Given the description of an element on the screen output the (x, y) to click on. 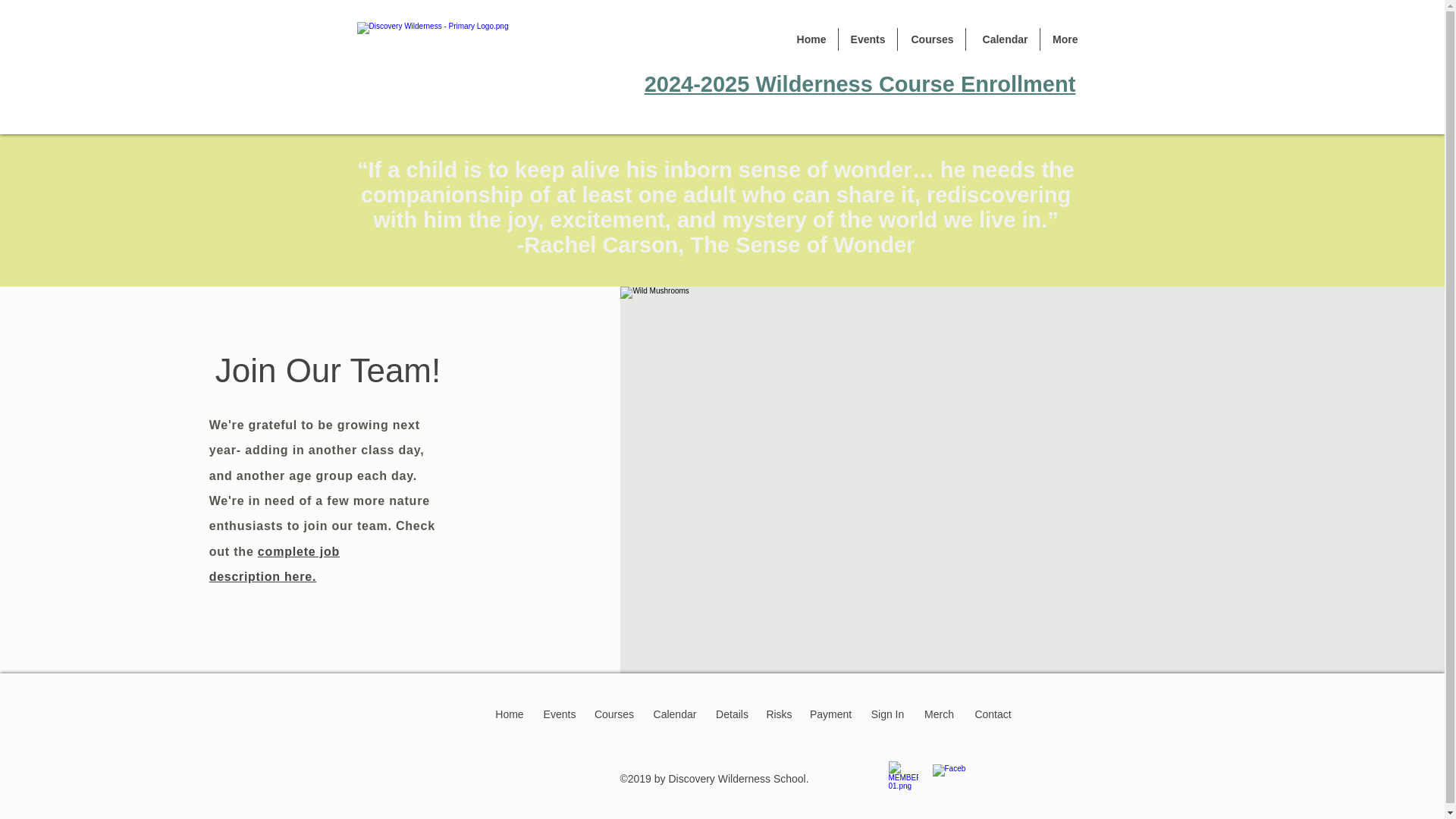
Courses (931, 38)
Home (509, 714)
Events (867, 38)
complete job description here. (274, 563)
2024-2025 Wilderness Course Enrollment (860, 84)
Details (732, 714)
Home (810, 38)
Events (559, 714)
Calendar (1002, 38)
Calendar (674, 714)
